Given the description of an element on the screen output the (x, y) to click on. 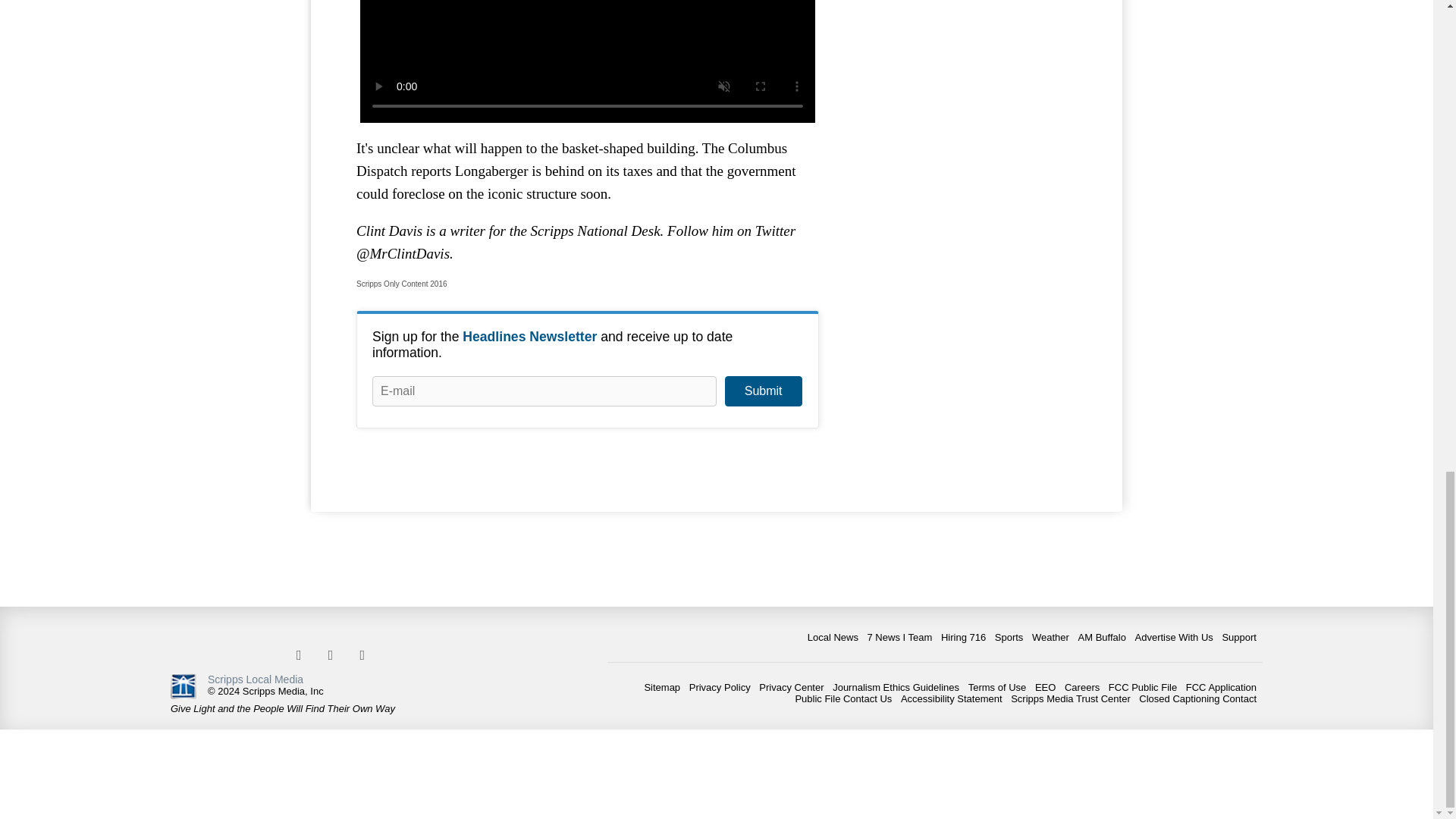
Submit (763, 390)
